Given the description of an element on the screen output the (x, y) to click on. 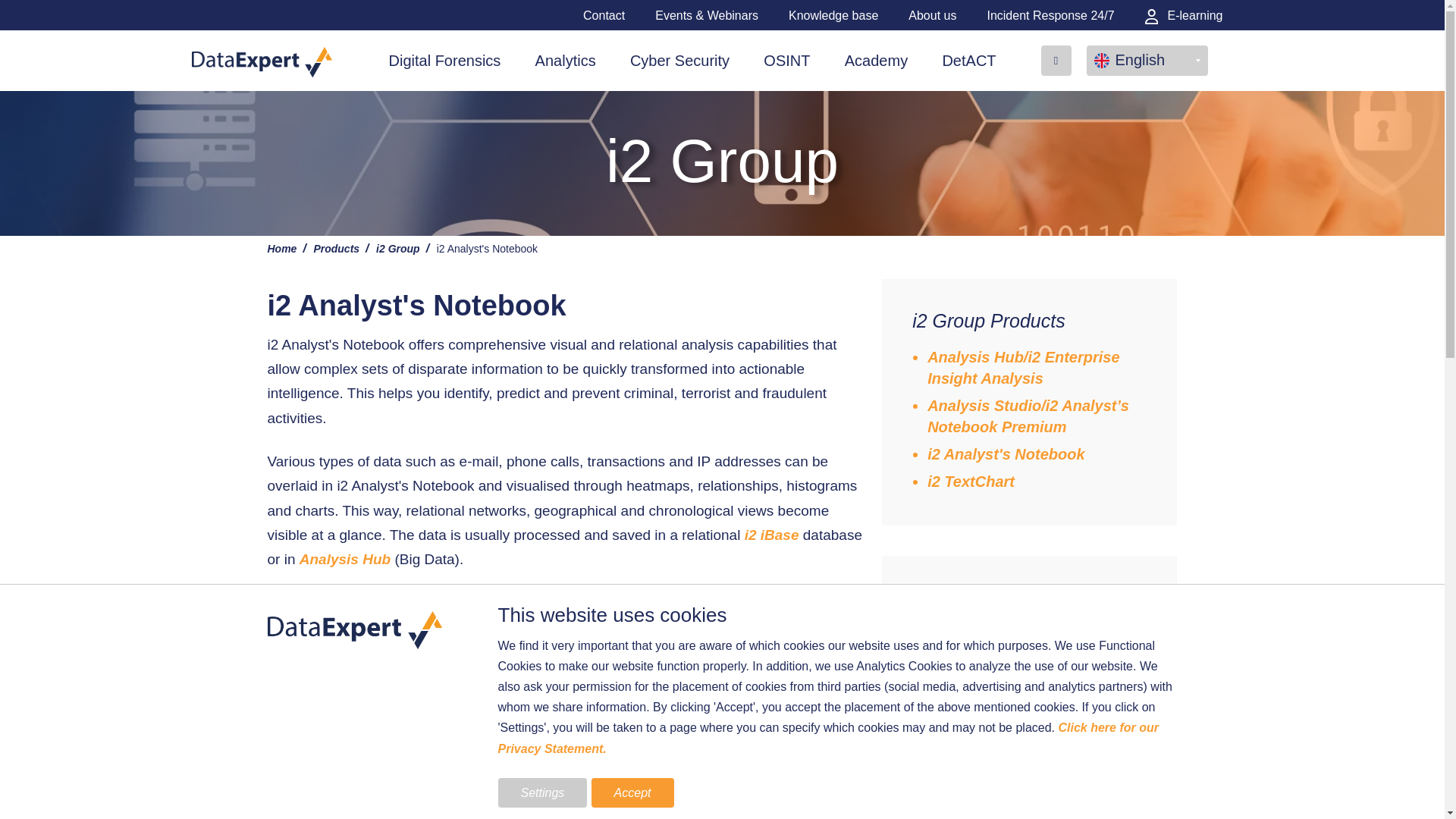
Analytics Cyber Threat Intelligence - Siren (304, 719)
Knowledge base (833, 15)
i2 TextChart (327, 694)
Contact (746, 775)
Analytics (565, 60)
About us (932, 15)
Privacy statement (827, 737)
Sintelix Enterprise (349, 744)
i2 iBase (771, 534)
E-learning (1183, 15)
Digital Forensics (443, 60)
Contact (603, 15)
